Given the description of an element on the screen output the (x, y) to click on. 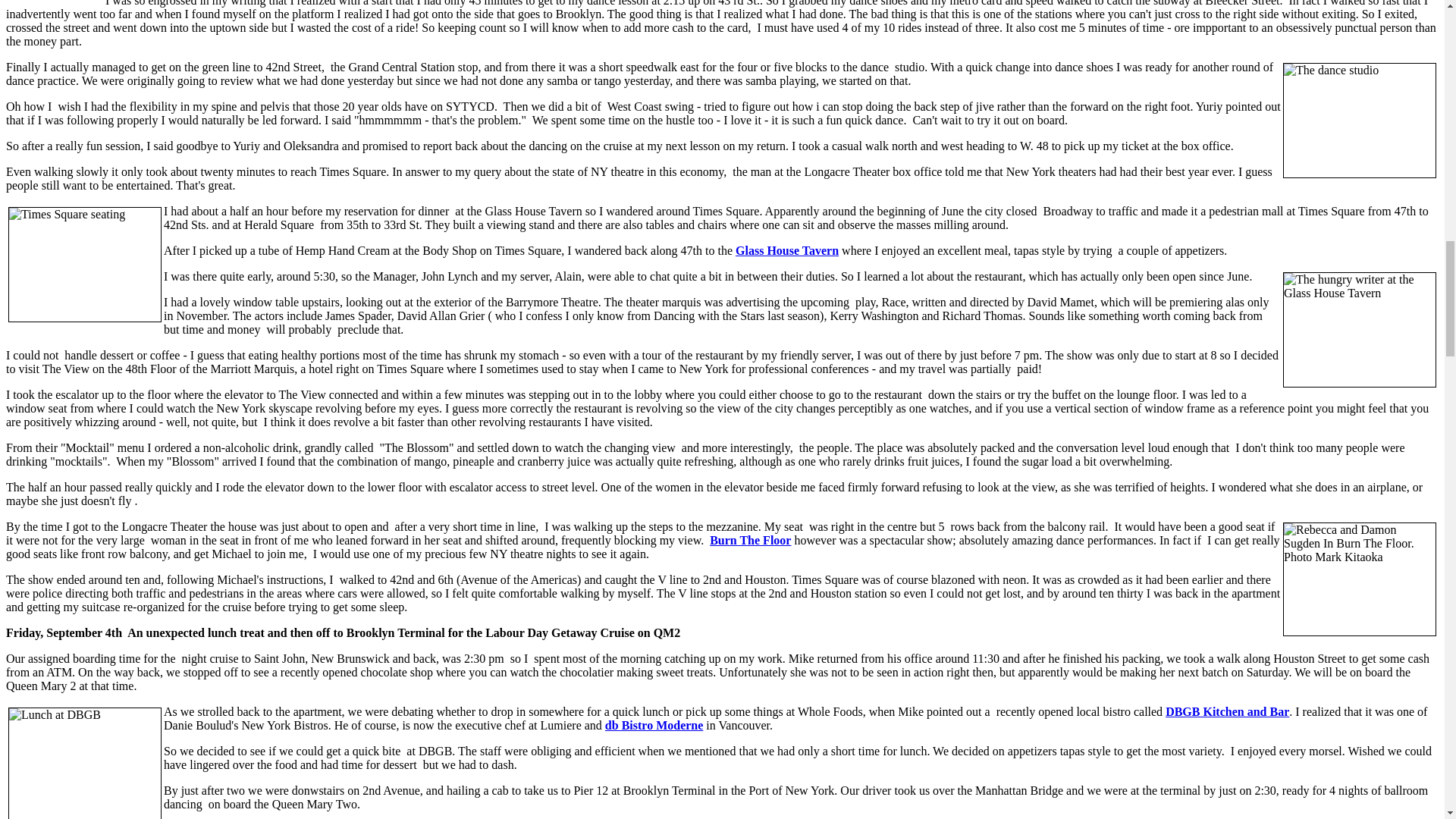
DBGB Kitchen and Bar (1227, 711)
Times Square seating (84, 264)
Glass House Tavern (786, 250)
db Bistro Moderne (654, 725)
Burn The Floor (750, 540)
